Given the description of an element on the screen output the (x, y) to click on. 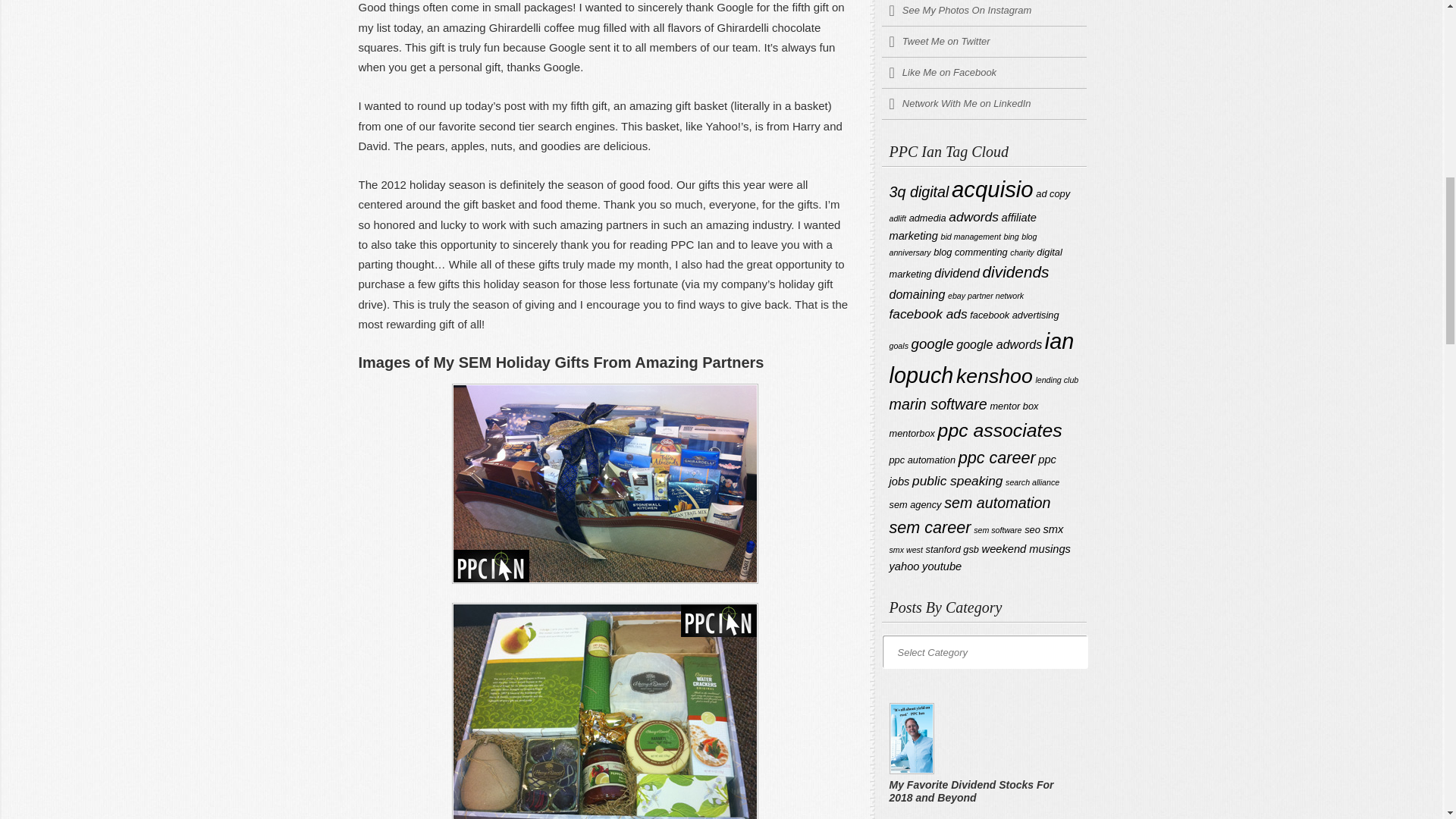
admedia (927, 217)
Tweet Me on Twitter (983, 41)
adlift (896, 217)
3q digital (918, 191)
adwords (973, 216)
affiliate marketing (961, 226)
See My Photos On Instagram (983, 13)
Like Me on Facebook (983, 72)
acquisio (992, 188)
Network With Me on LinkedIn (983, 103)
ad copy (1052, 193)
